Given the description of an element on the screen output the (x, y) to click on. 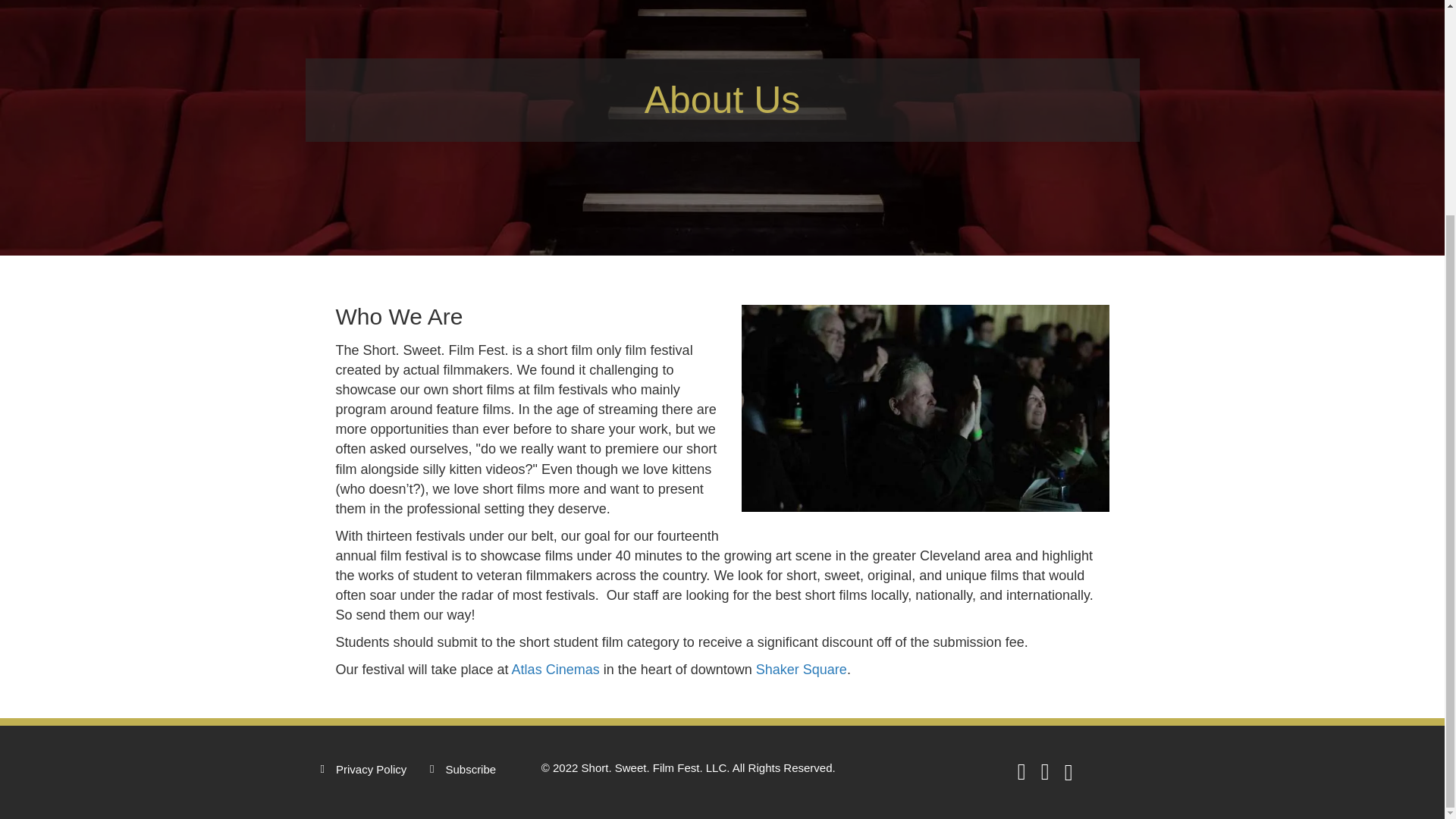
Atlas Cinemas (555, 669)
Shaker Square (801, 669)
Privacy Policy (371, 769)
Subscribe (470, 769)
